Given the description of an element on the screen output the (x, y) to click on. 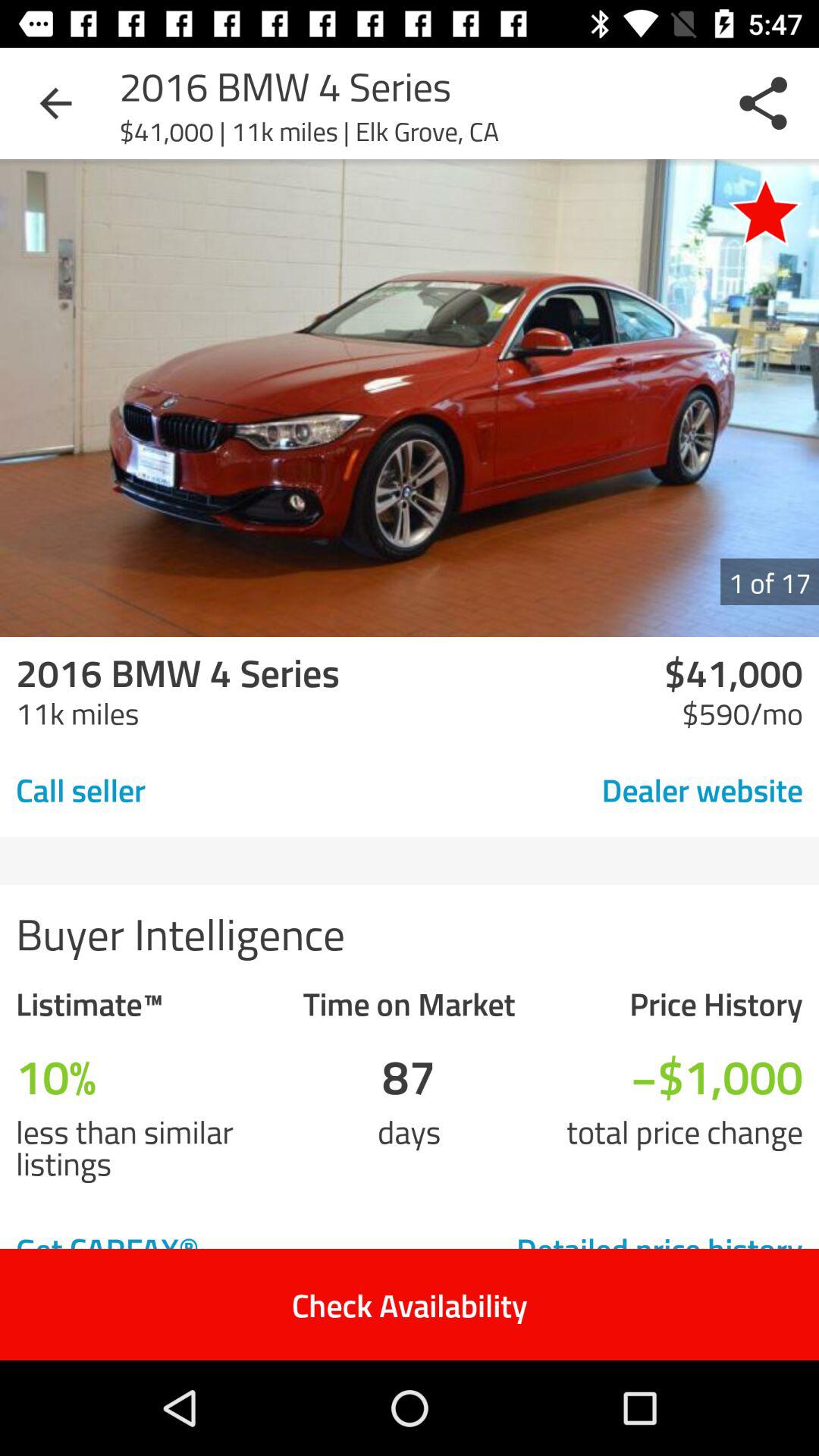
swipe to buyer intelligence (409, 932)
